Given the description of an element on the screen output the (x, y) to click on. 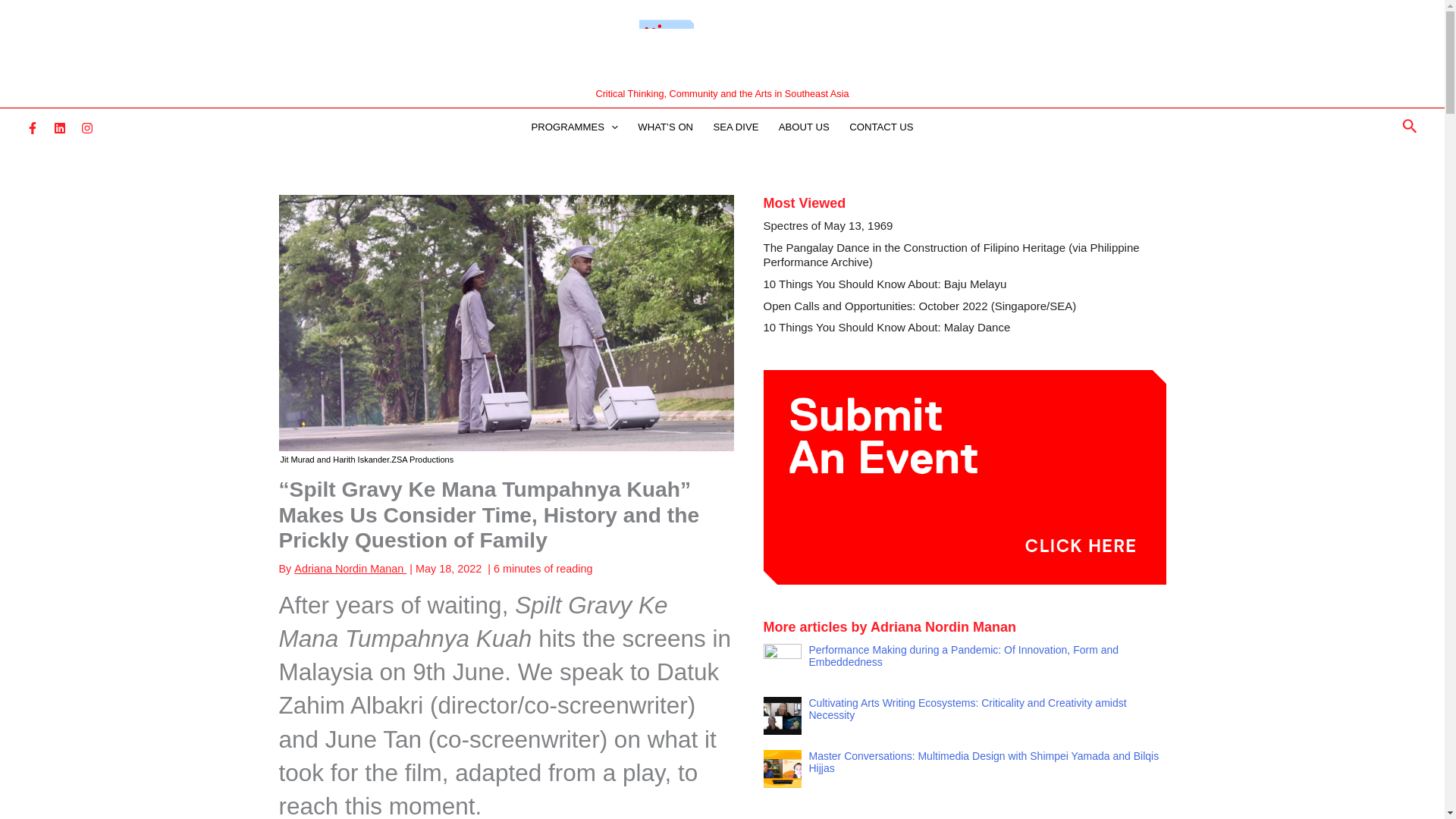
CONTACT US (881, 127)
SEA DIVE (735, 127)
ABOUT US (804, 127)
PROGRAMMES (574, 127)
Adriana Nordin Manan (350, 568)
View all posts by Adriana Nordin Manan (350, 568)
